Given the description of an element on the screen output the (x, y) to click on. 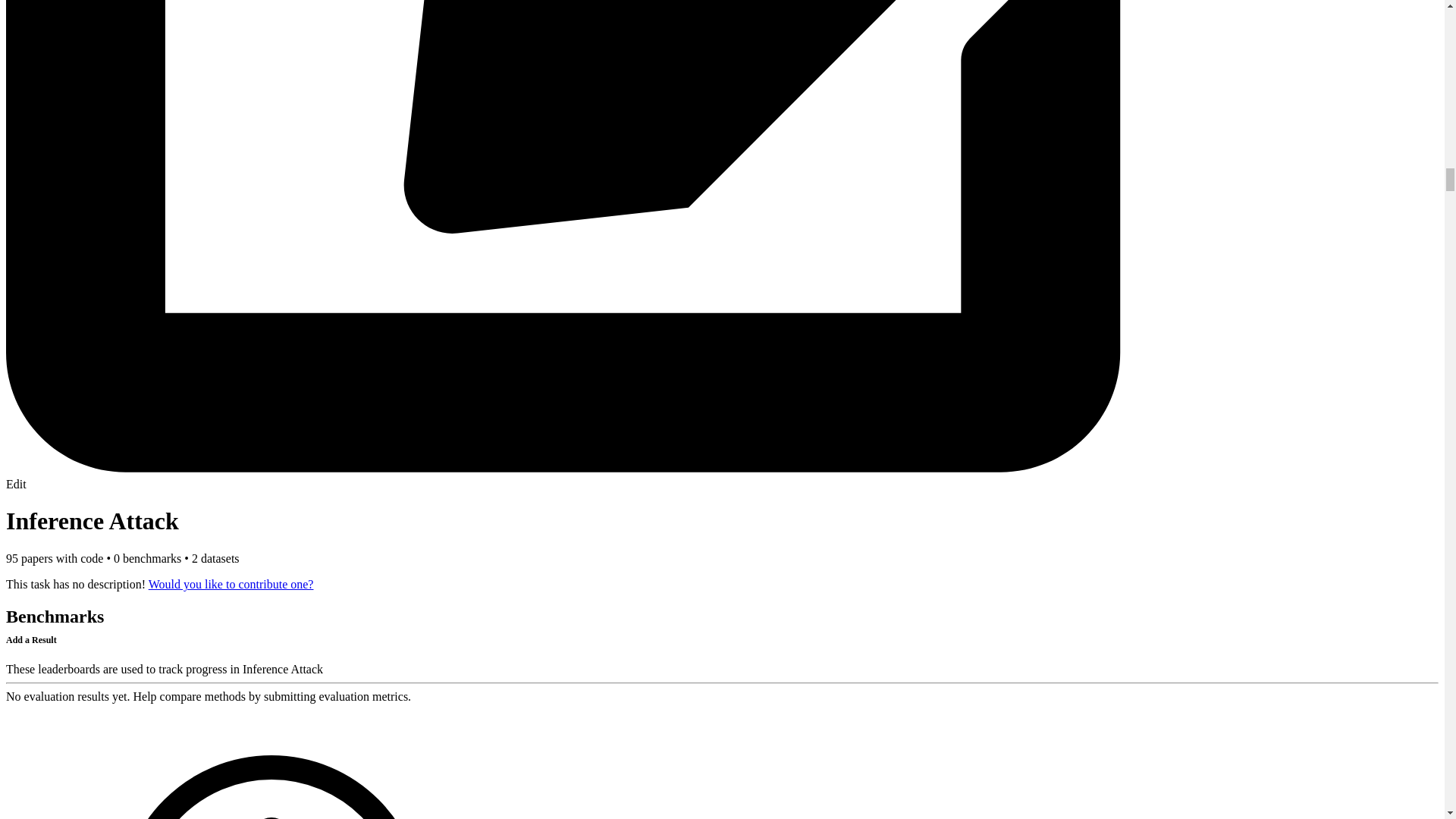
Add a Result (30, 637)
Would you like to contribute one? (231, 584)
submitting evaluation metrics (335, 696)
